Given the description of an element on the screen output the (x, y) to click on. 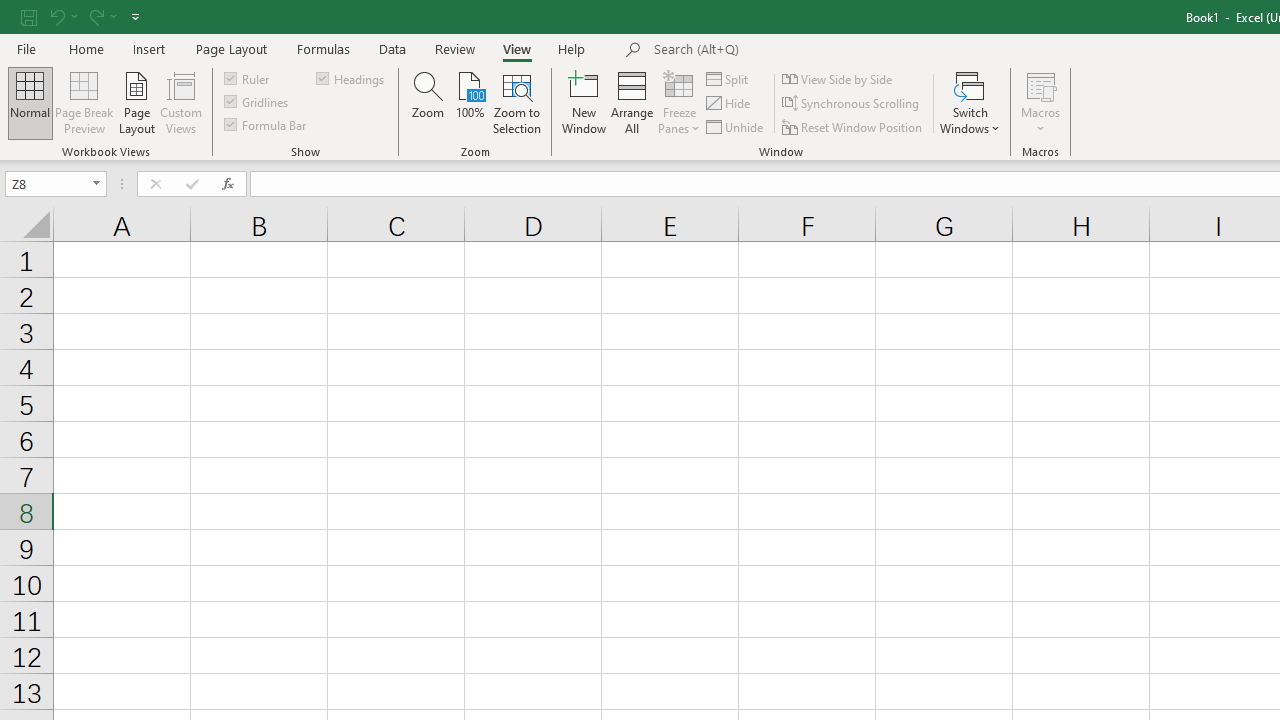
Macros (1040, 102)
Formula Bar (267, 124)
New Window (584, 102)
Microsoft search (792, 49)
Switch Windows (970, 102)
View Side by Side (838, 78)
View Macros (1040, 84)
Split (728, 78)
